Given the description of an element on the screen output the (x, y) to click on. 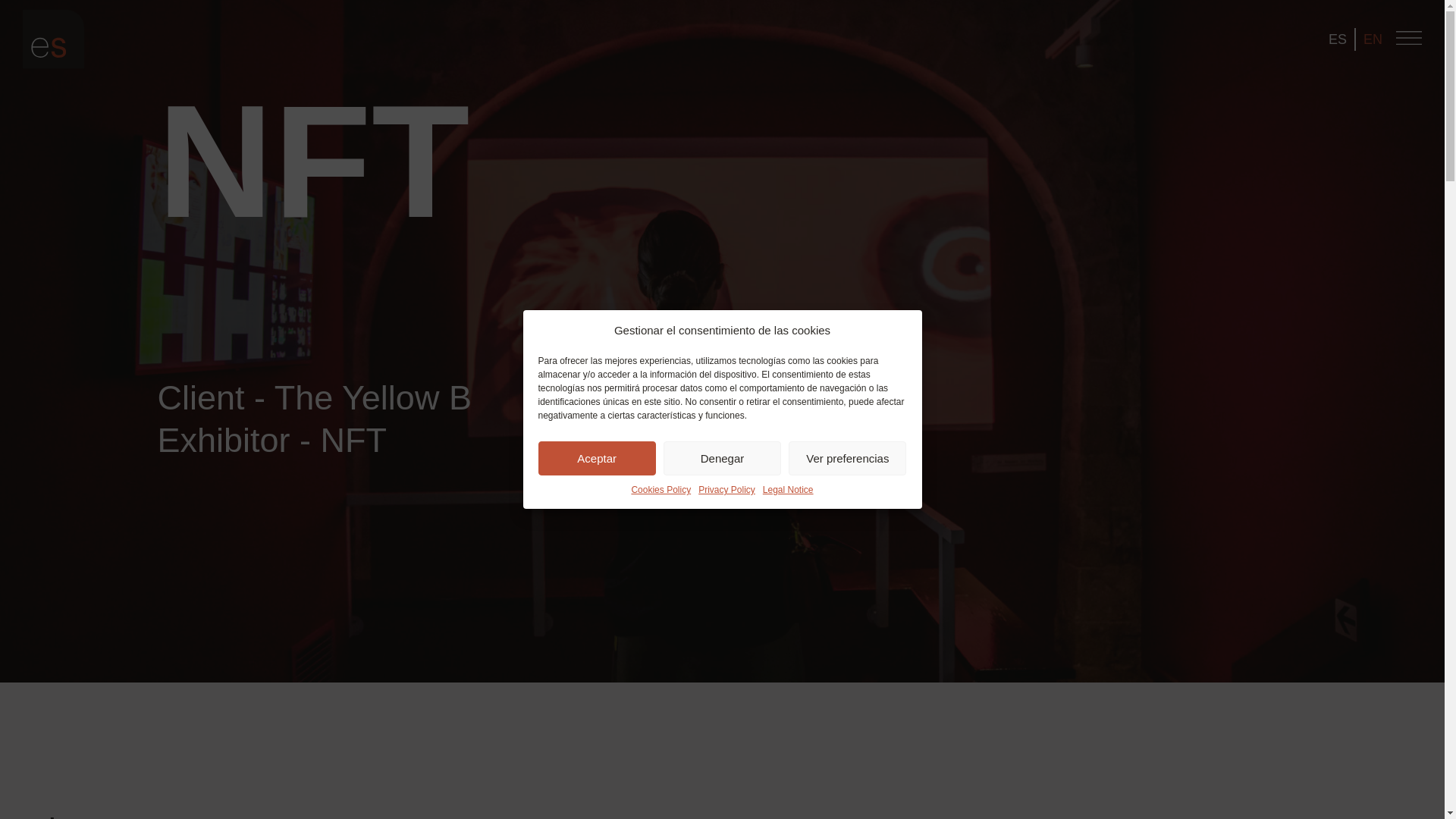
EN (1372, 38)
ES Group (53, 64)
ES (1337, 38)
ES Group (53, 38)
Denegar (721, 722)
Ver preferencias (847, 706)
Cookies Policy (660, 640)
Aceptar (597, 740)
Legal Notice (787, 608)
Privacy Policy (726, 618)
